Given the description of an element on the screen output the (x, y) to click on. 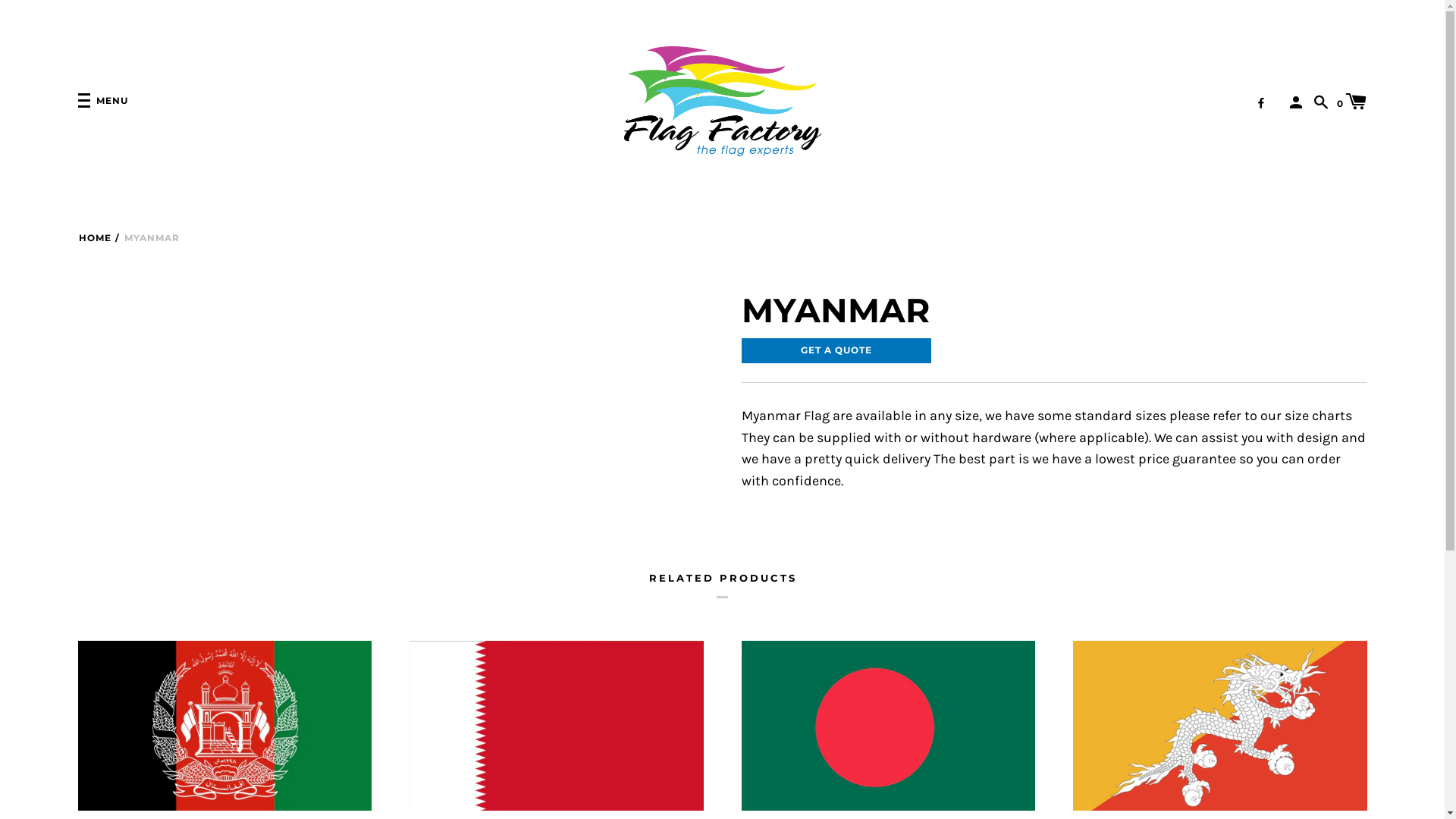
Flag Factory on Facebook Element type: hover (1260, 103)
HOME Element type: text (94, 237)
0 Element type: text (1351, 101)
GET A QUOTE Element type: text (836, 350)
MENU Element type: text (102, 101)
